Given the description of an element on the screen output the (x, y) to click on. 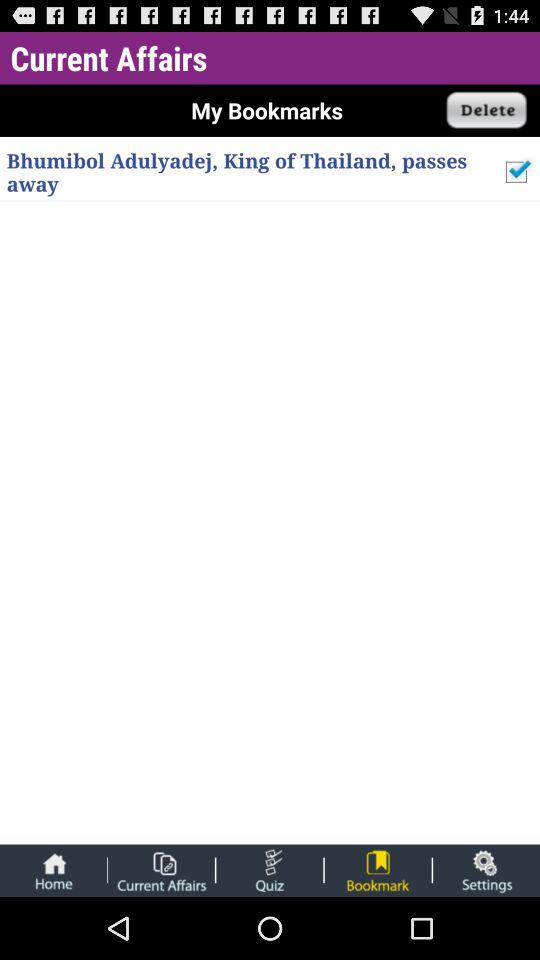
go to quiz page (269, 870)
